Given the description of an element on the screen output the (x, y) to click on. 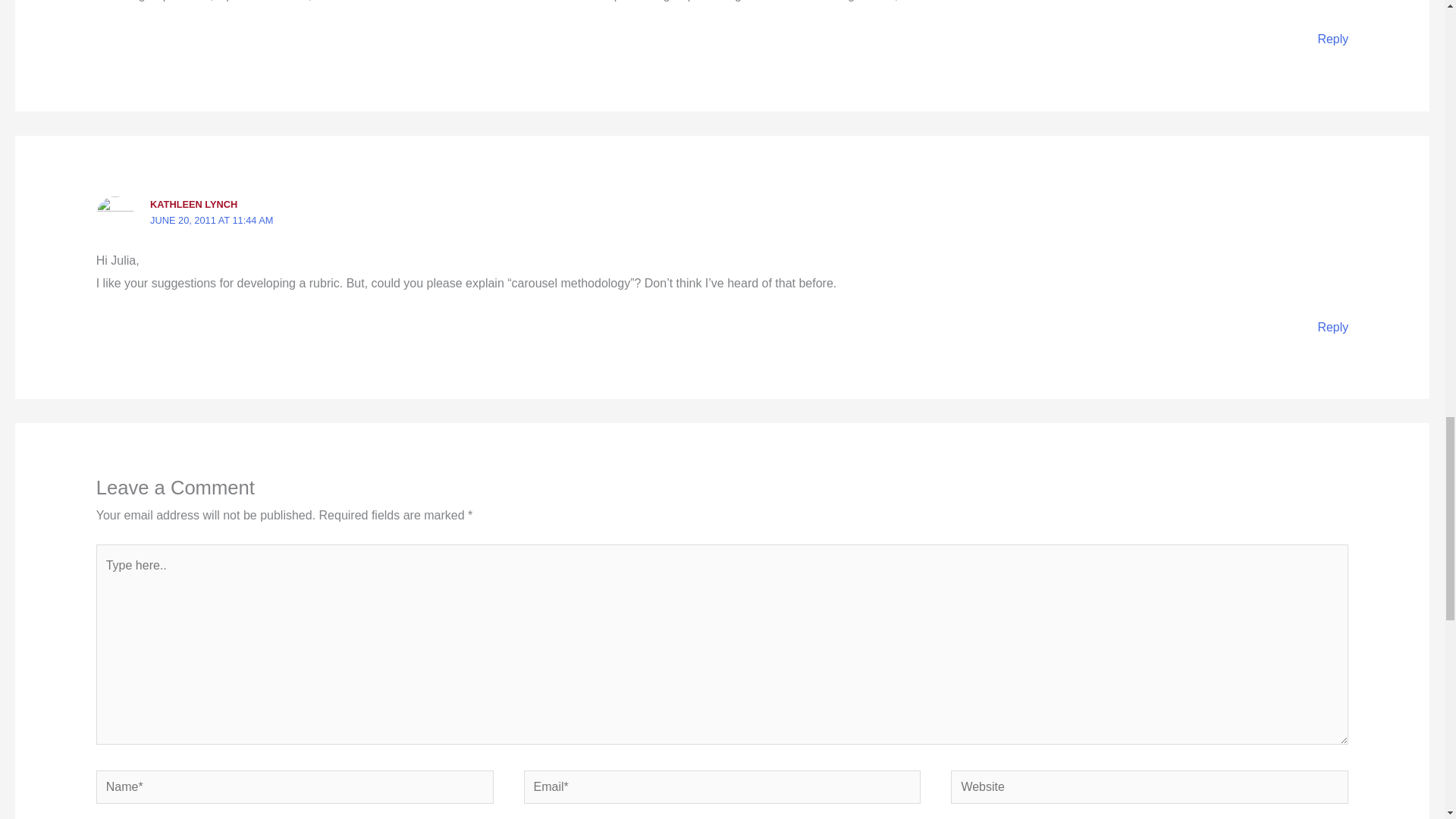
Reply (1332, 38)
Reply (1332, 327)
JUNE 20, 2011 AT 11:44 AM (211, 220)
